Given the description of an element on the screen output the (x, y) to click on. 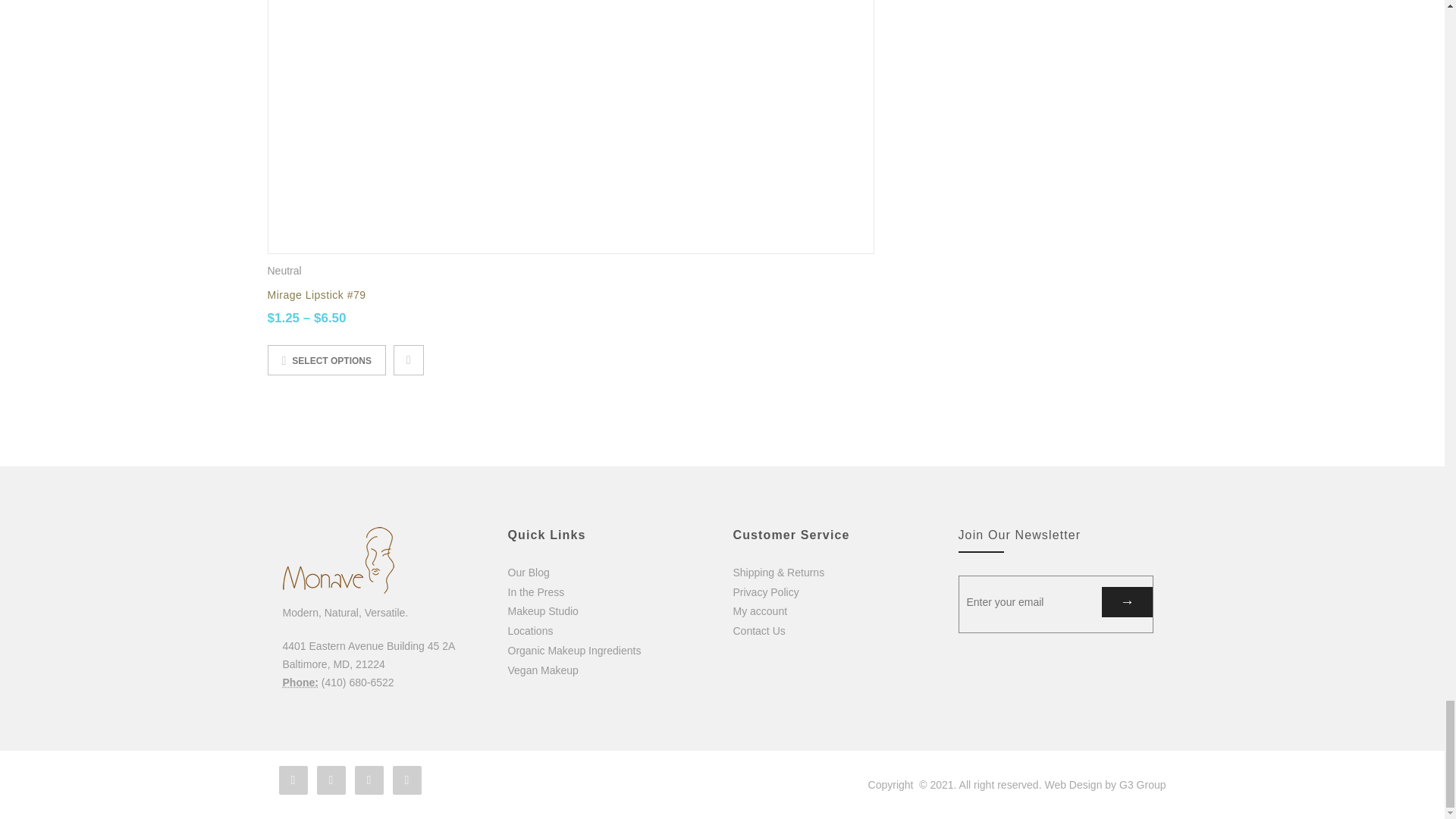
Phone Number (299, 682)
